Given the description of an element on the screen output the (x, y) to click on. 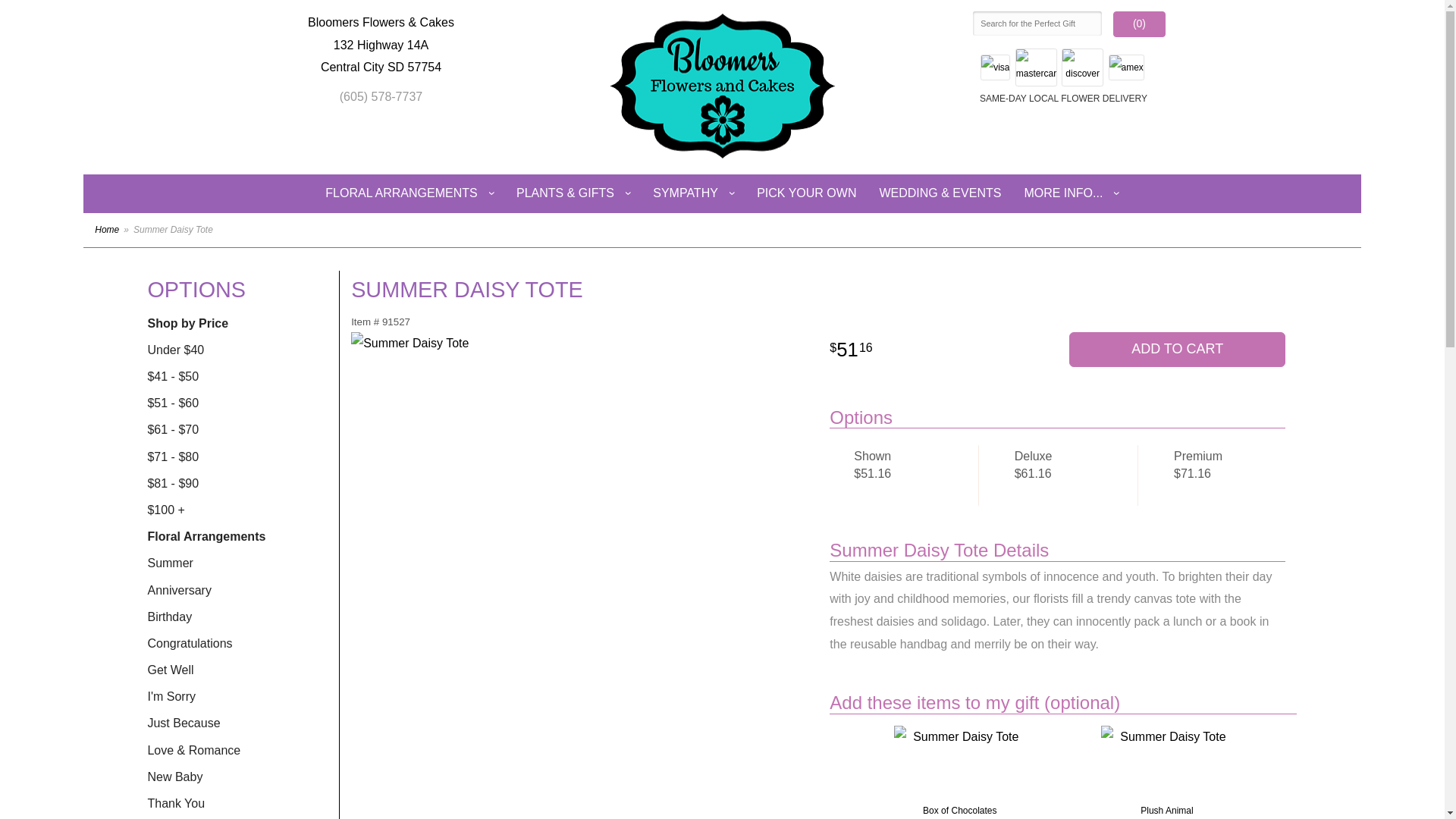
Home (106, 229)
MORE INFO... (1070, 193)
FLORAL ARRANGEMENTS (409, 193)
PICK YOUR OWN (806, 193)
SYMPATHY (693, 193)
